Given the description of an element on the screen output the (x, y) to click on. 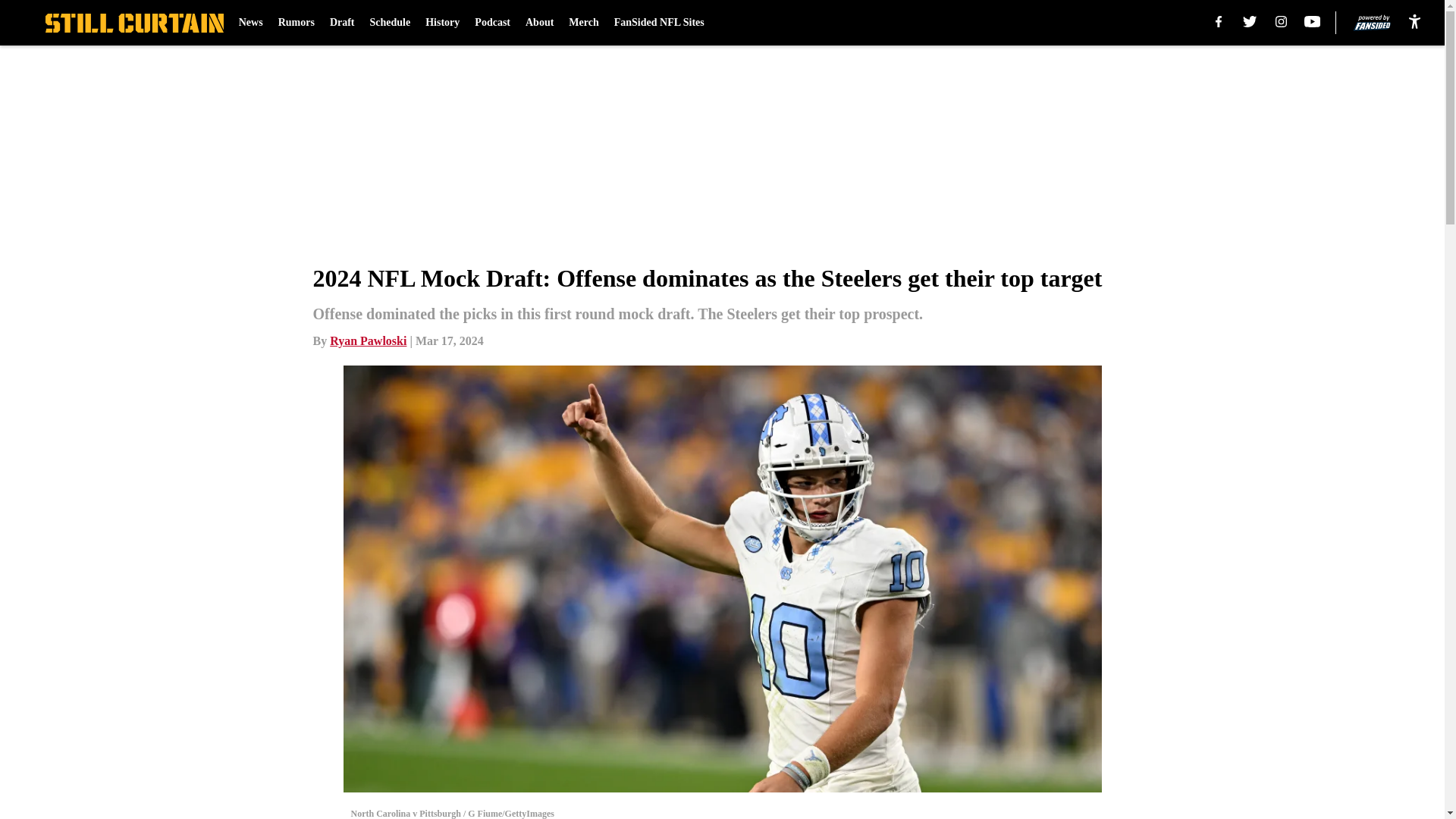
Rumors (296, 22)
Podcast (492, 22)
History (442, 22)
Schedule (389, 22)
Ryan Pawloski (368, 340)
Merch (583, 22)
Draft (342, 22)
About (539, 22)
FanSided NFL Sites (659, 22)
News (250, 22)
